Given the description of an element on the screen output the (x, y) to click on. 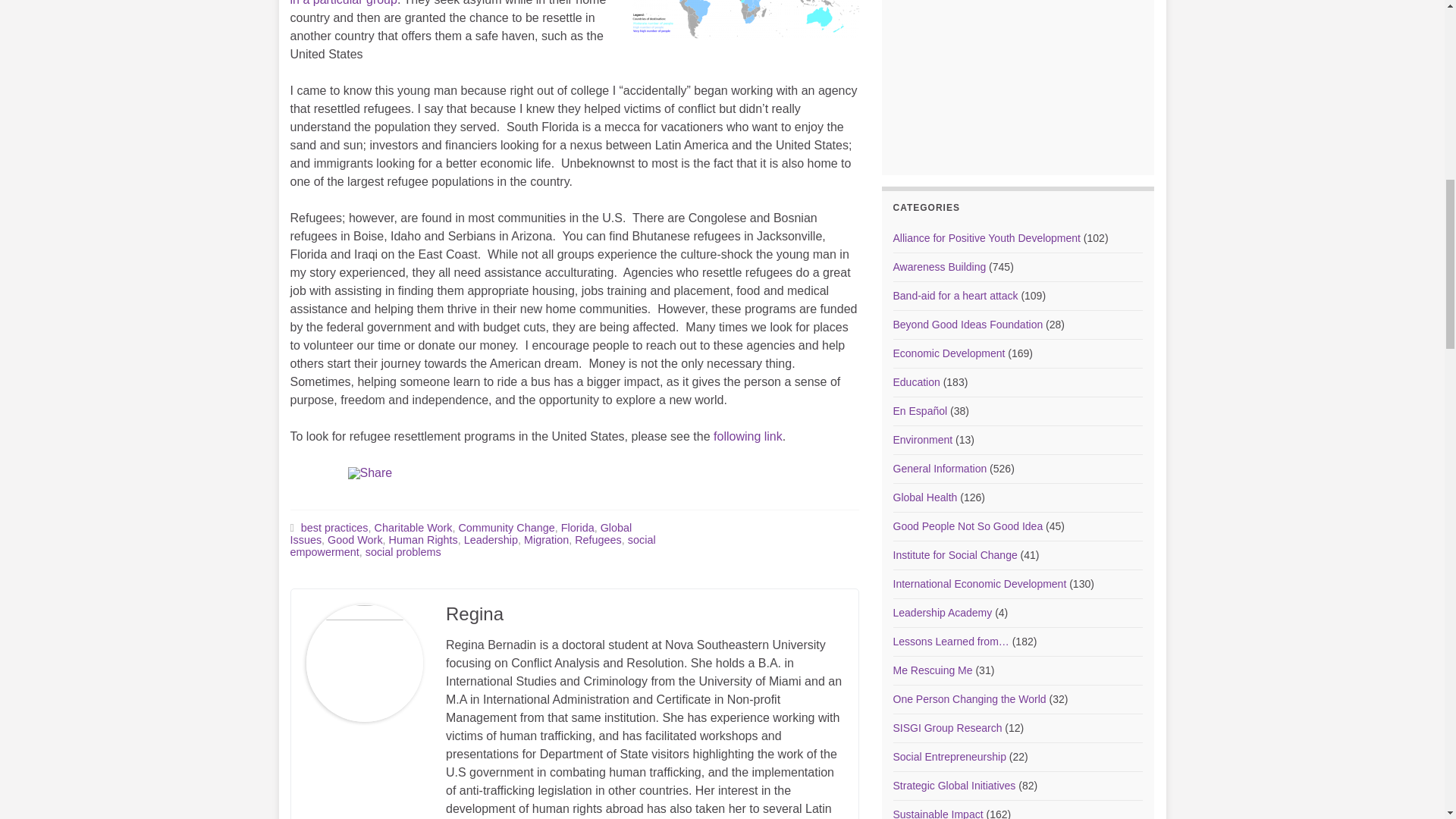
Charitable Work (413, 527)
following link (748, 436)
Country of Origin of Refugees (744, 20)
best practices (334, 527)
